Given the description of an element on the screen output the (x, y) to click on. 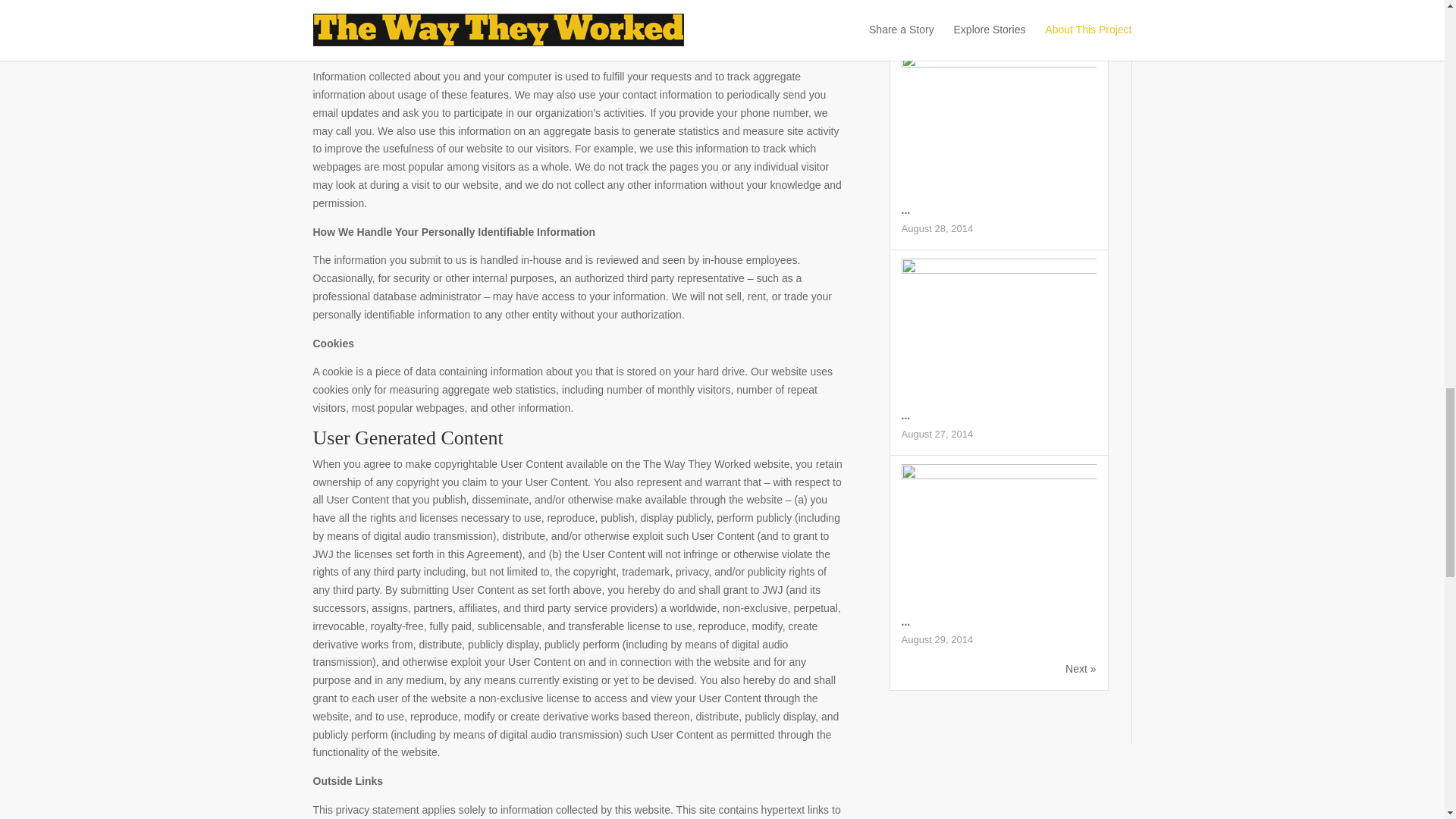
Let Your Work Speak for Itself (905, 209)
Let Your Work Speak for Itself (998, 63)
... (905, 5)
... (905, 209)
